Given the description of an element on the screen output the (x, y) to click on. 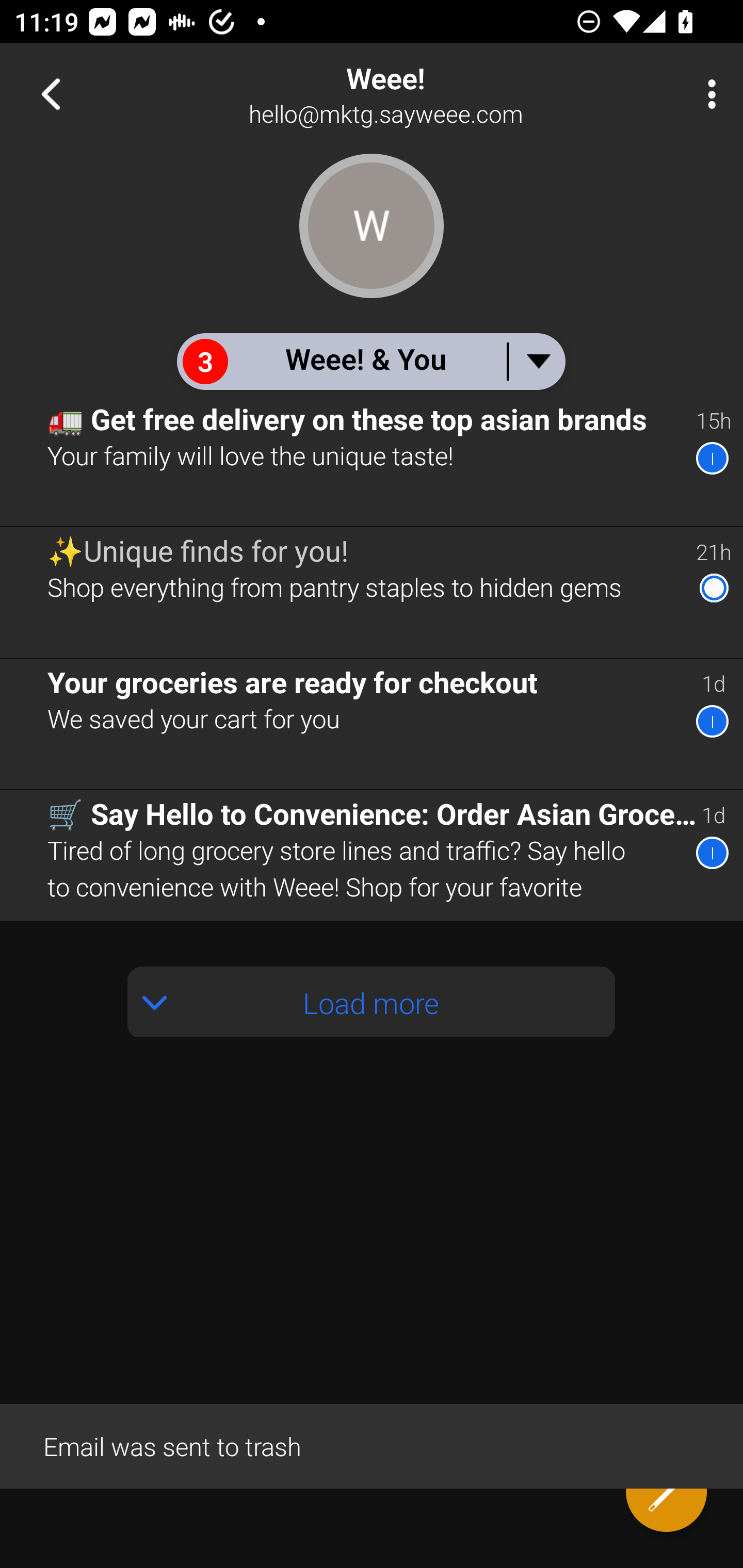
Navigate up (50, 93)
Weee! hello@mktg.sayweee.com (436, 93)
More Options (706, 93)
3 Weee! & You (370, 361)
Load more (371, 1001)
Email was sent to trash (371, 1445)
